Given the description of an element on the screen output the (x, y) to click on. 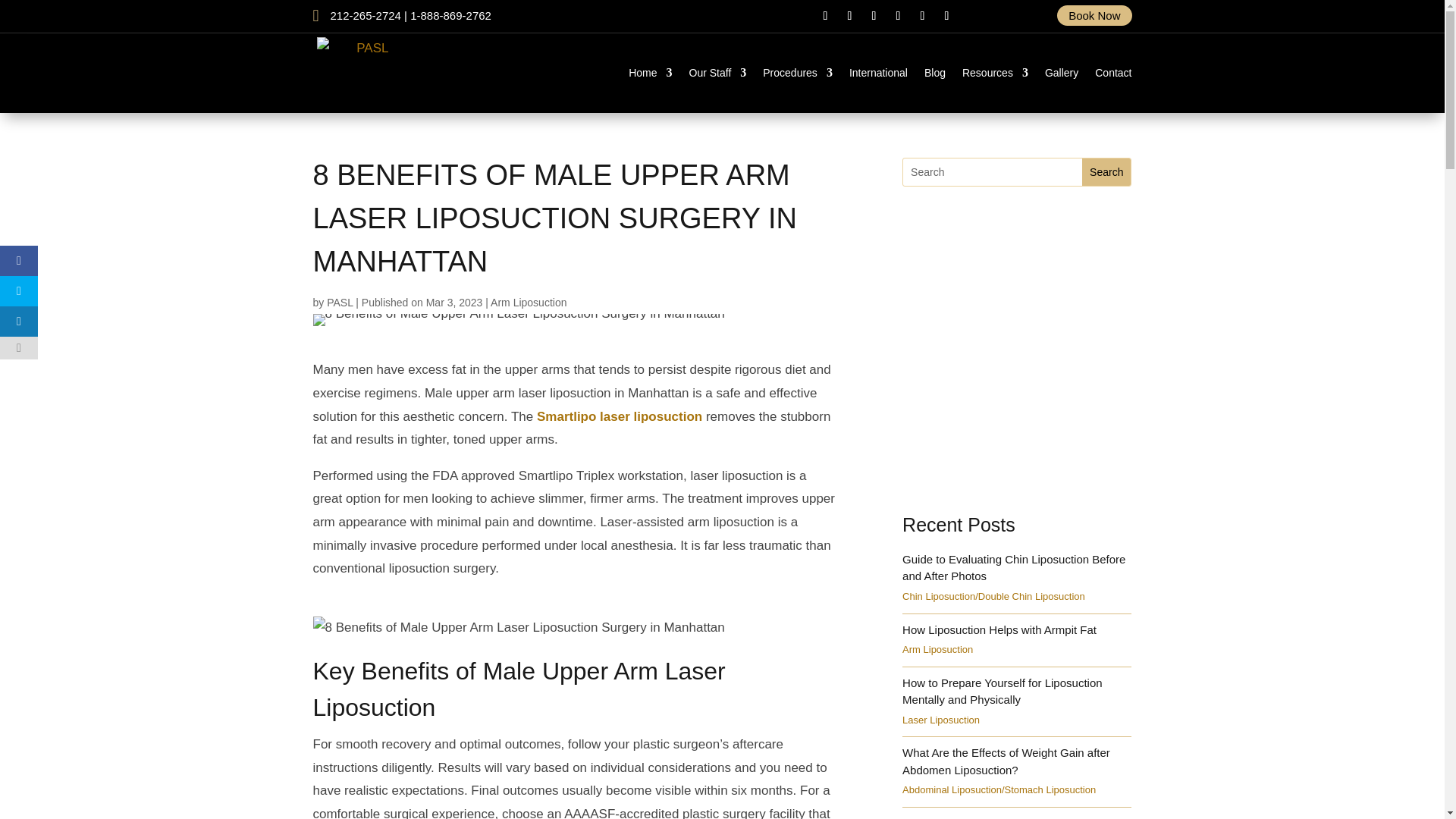
Follow on LinkedIn (946, 15)
Follow on X (849, 15)
Follow (873, 15)
Follow on Pinterest (922, 15)
Follow on Facebook (824, 15)
Follow (849, 15)
Smartlipo Laser Liposuction (619, 416)
Male Upper Arm Laser Liposuction (574, 692)
Search (1106, 171)
Follow (824, 15)
Follow (897, 15)
212-265-2724 (365, 15)
Follow (922, 15)
Follow (946, 15)
